Given the description of an element on the screen output the (x, y) to click on. 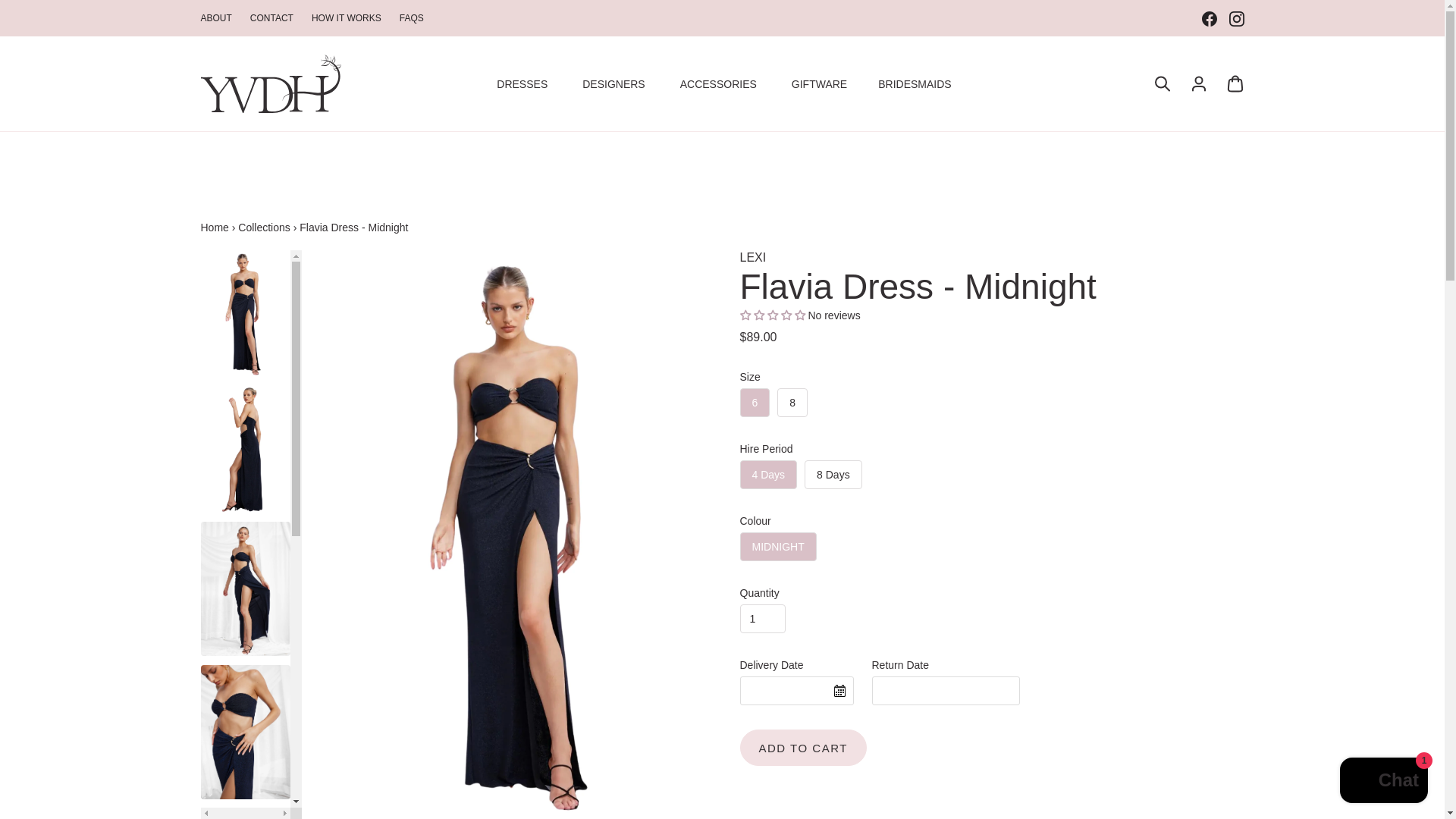
ABOUT (215, 18)
1 (762, 618)
CONTACT (272, 18)
Shopify online store chat (1383, 781)
HOW IT WORKS (346, 18)
Home (214, 227)
Add to Cart (802, 747)
FAQS (410, 18)
